Given the description of an element on the screen output the (x, y) to click on. 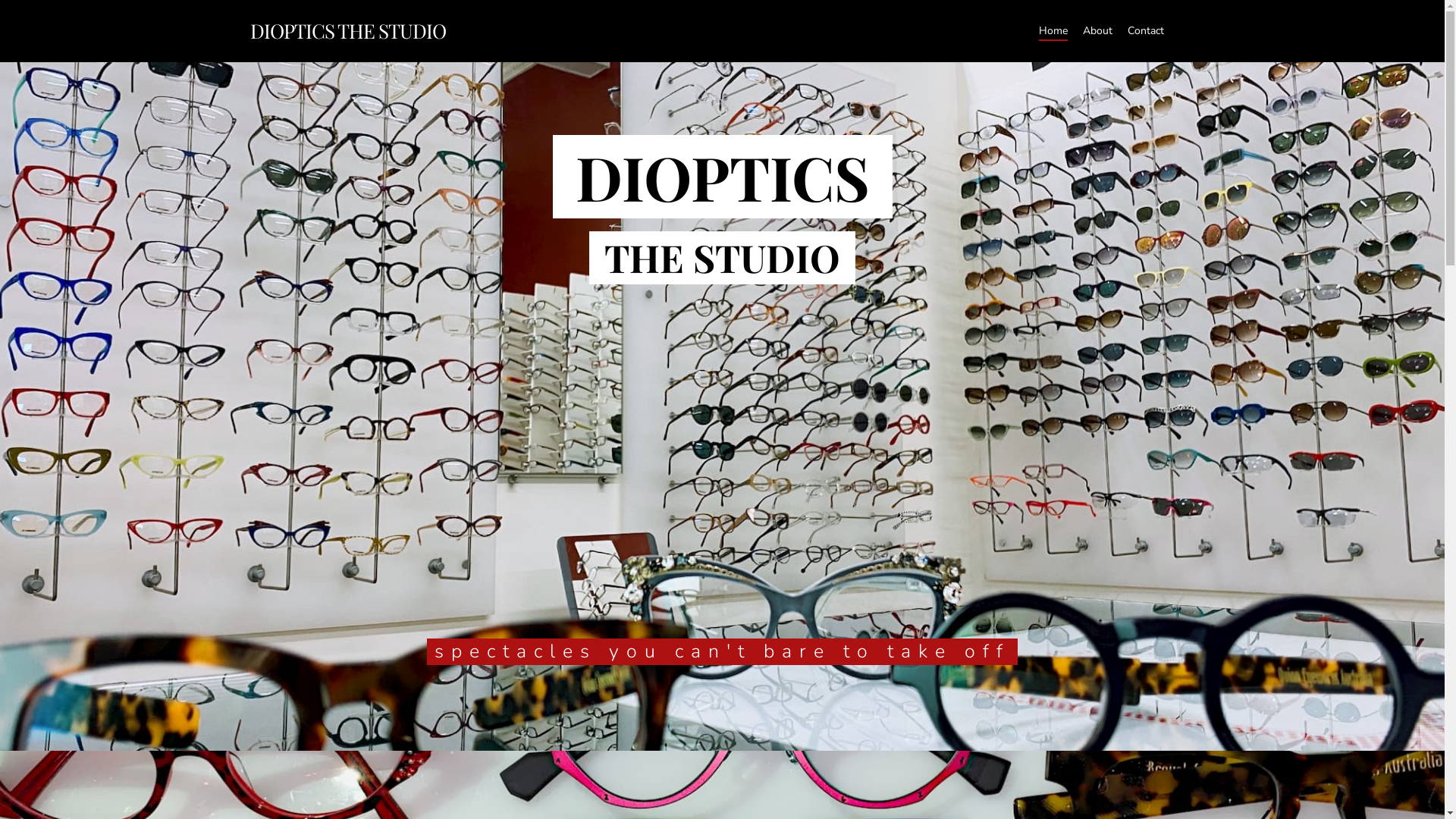
About Element type: text (1097, 30)
Contact Element type: text (1145, 30)
Home Element type: text (1052, 30)
DIOPTICS THE STUDIO Element type: text (347, 30)
